Given the description of an element on the screen output the (x, y) to click on. 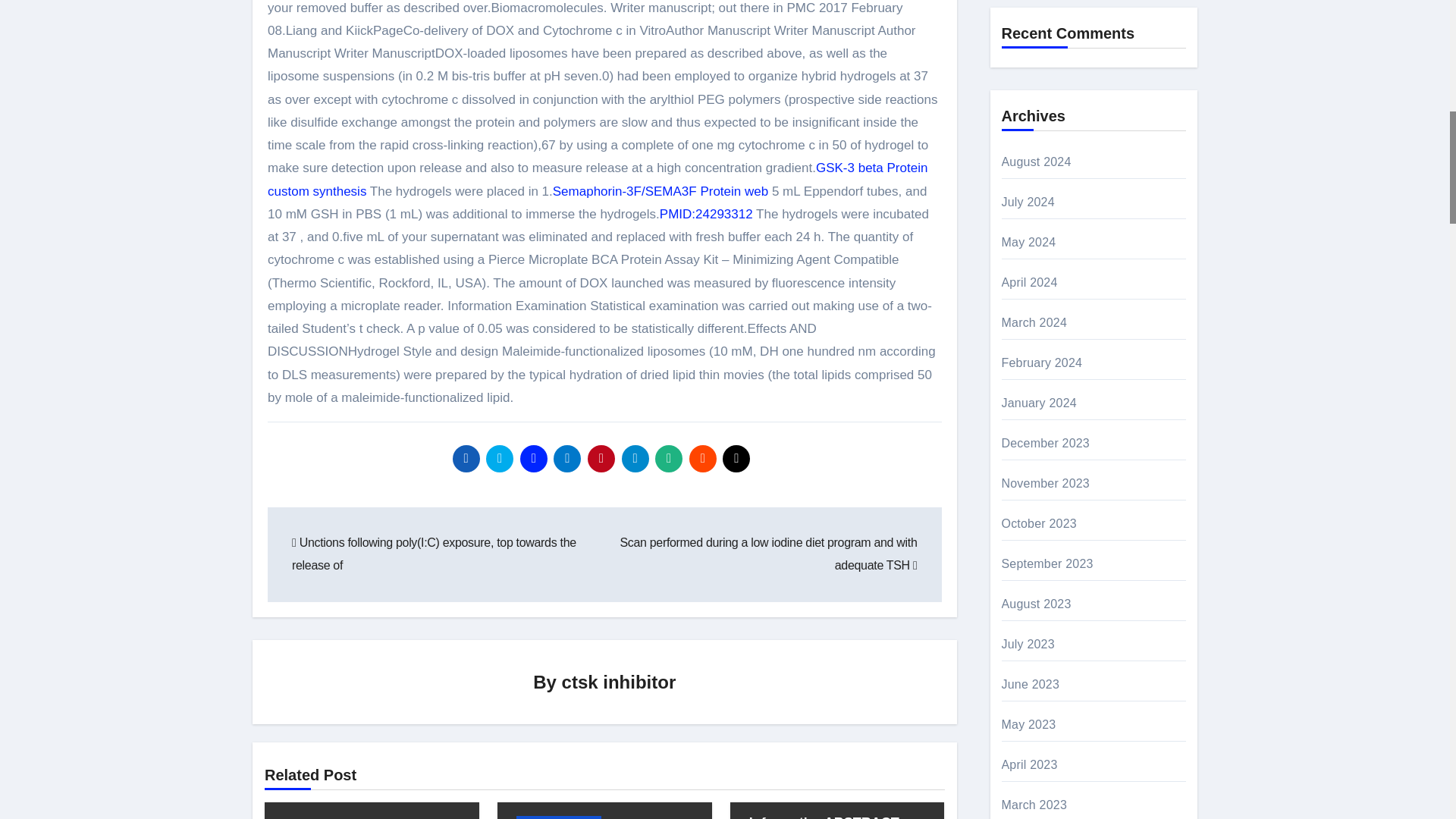
GSK-3 beta Protein custom synthesis (597, 179)
PMID:24293312 (705, 214)
ctsk inhibitor (619, 681)
